Given the description of an element on the screen output the (x, y) to click on. 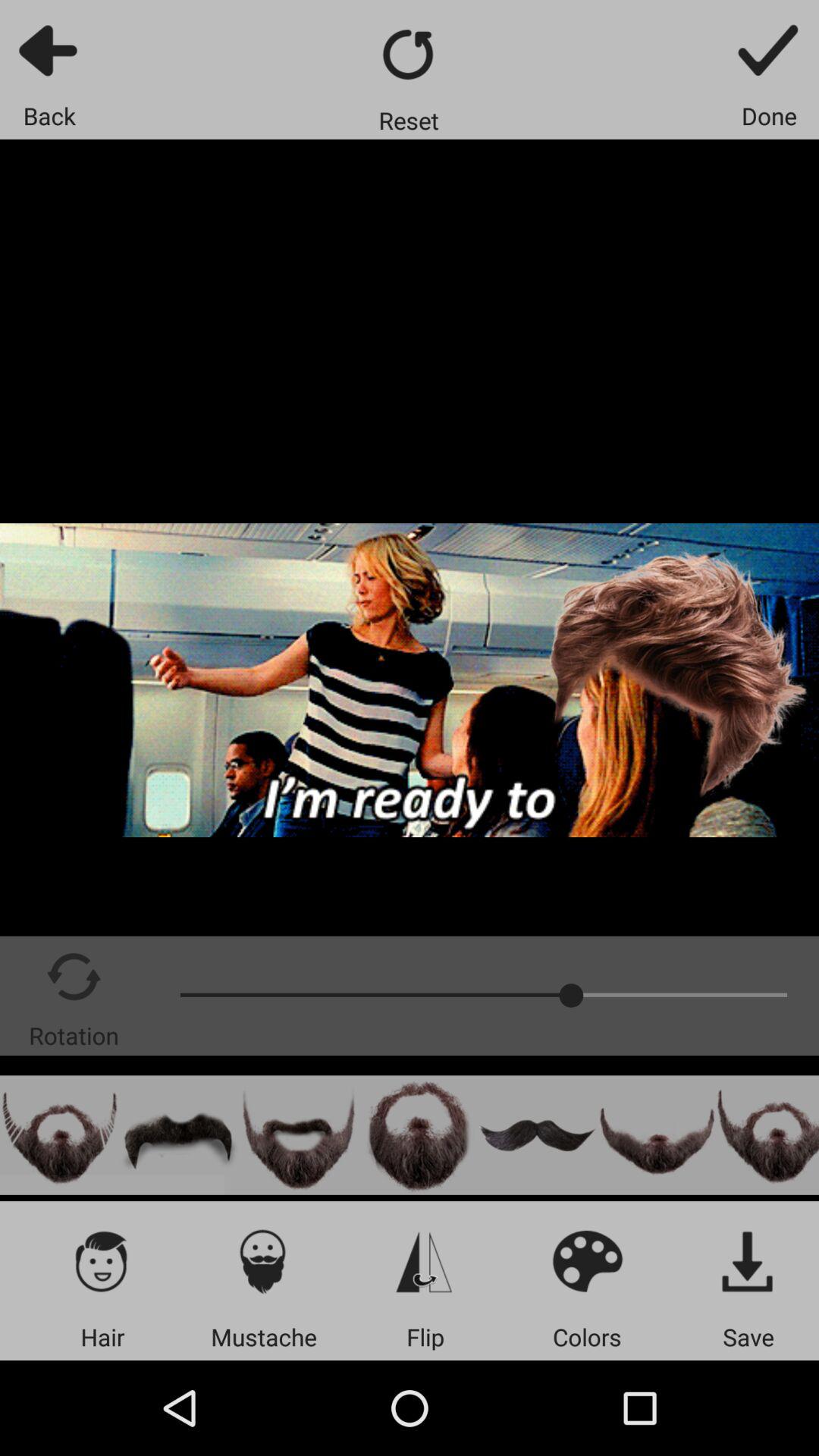
tap app above the done app (769, 49)
